Given the description of an element on the screen output the (x, y) to click on. 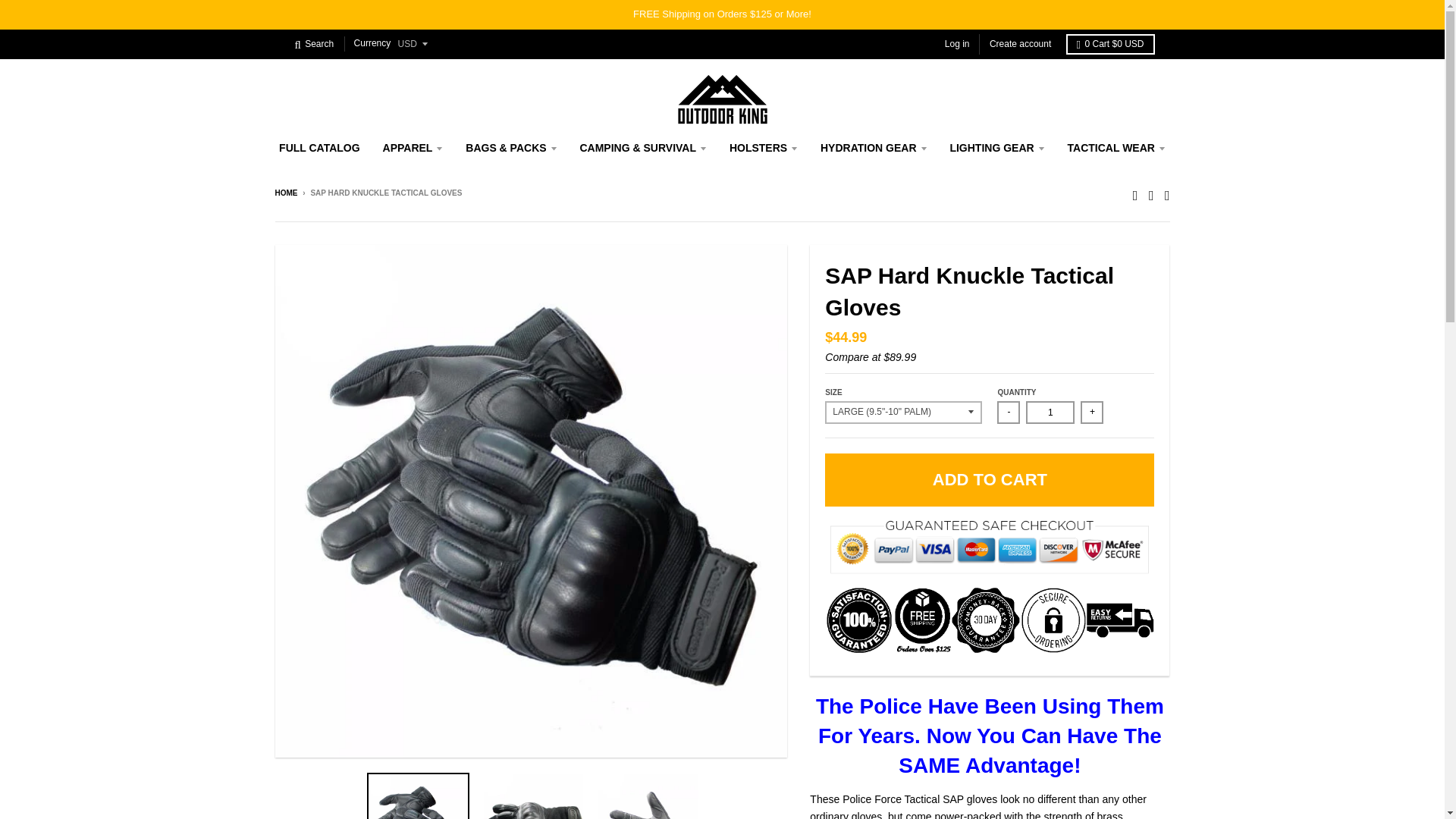
Back to the frontpage (286, 193)
Log in (957, 44)
FULL CATALOG (319, 147)
LIGHTING GEAR (996, 147)
Search (313, 44)
Create account (1020, 44)
Outdoor King on Pinterest (1167, 194)
HOLSTERS (763, 147)
Outdoor King on Facebook (1135, 194)
1 (1050, 412)
APPAREL (412, 147)
HYDRATION GEAR (873, 147)
Outdoor King on Instagram (1151, 194)
